Given the description of an element on the screen output the (x, y) to click on. 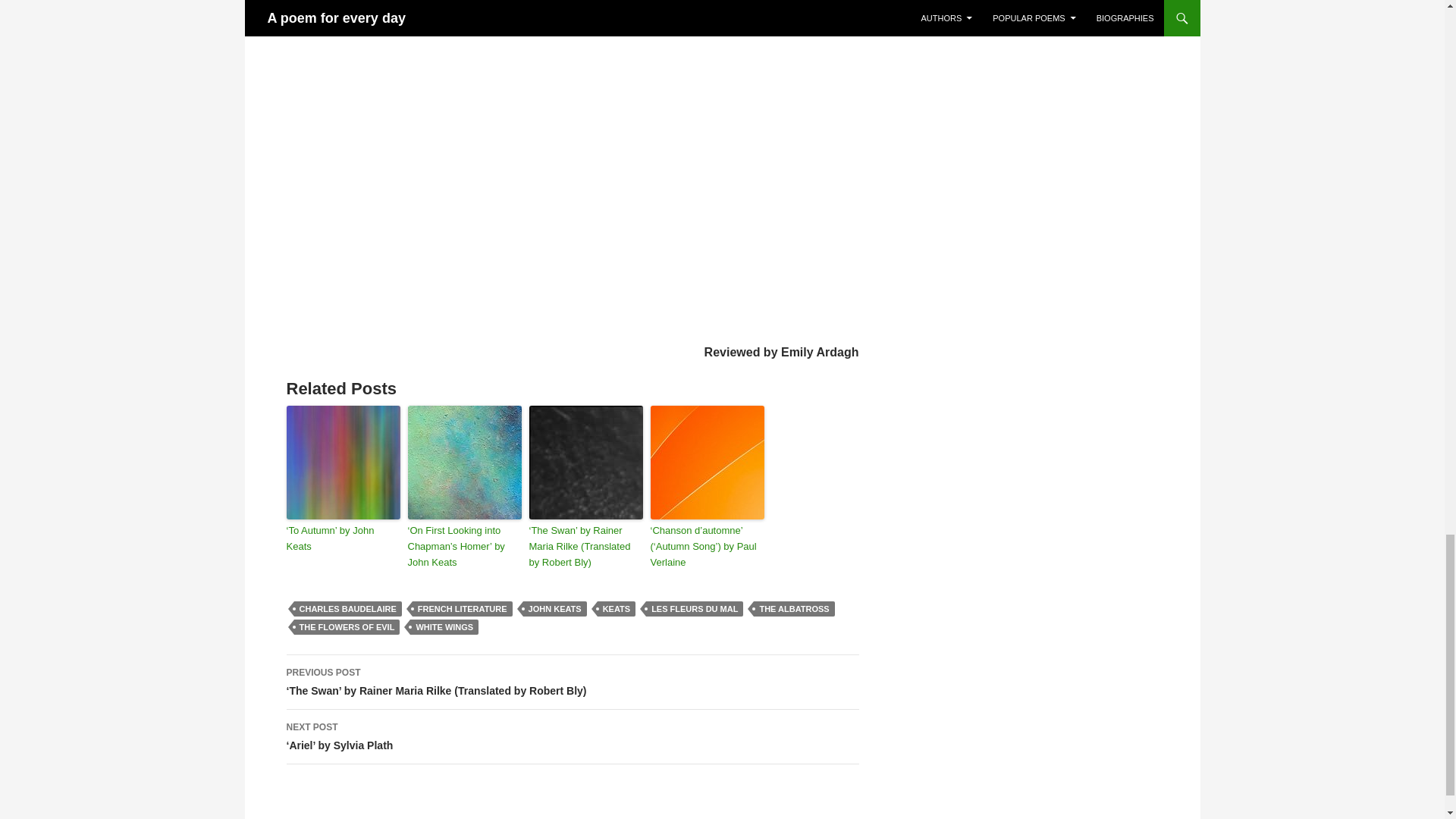
Advertisement (572, 297)
